Given the description of an element on the screen output the (x, y) to click on. 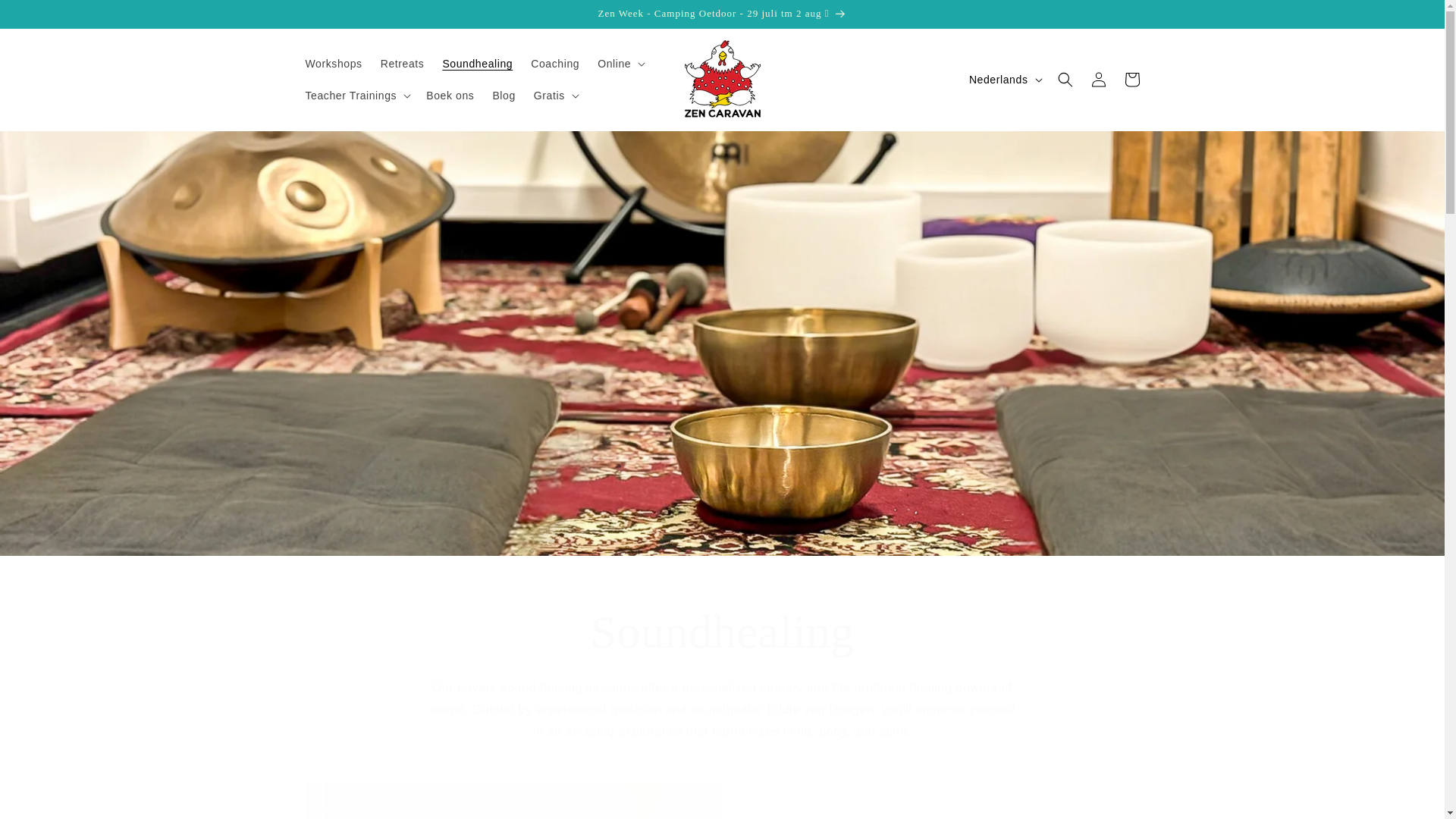
Boek ons (449, 95)
Retreats (402, 63)
Workshops (333, 63)
Soundhealing (721, 631)
Soundhealing (476, 63)
Meteen naar de content (45, 17)
Blog (503, 95)
Coaching (554, 63)
